Given the description of an element on the screen output the (x, y) to click on. 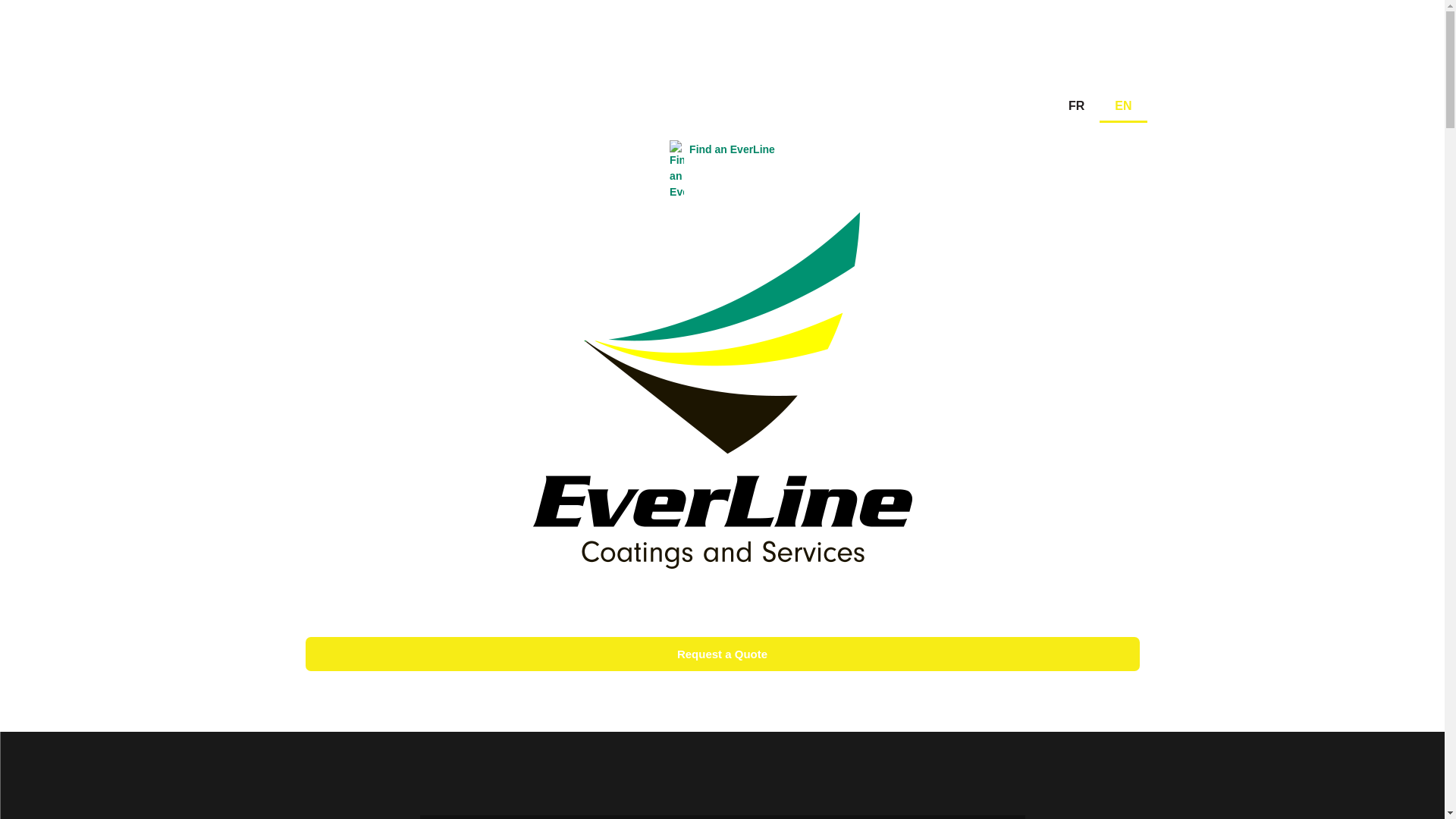
EN (1123, 105)
Request a Quote (721, 653)
FR (1075, 105)
Find an EverLine (731, 149)
